Given the description of an element on the screen output the (x, y) to click on. 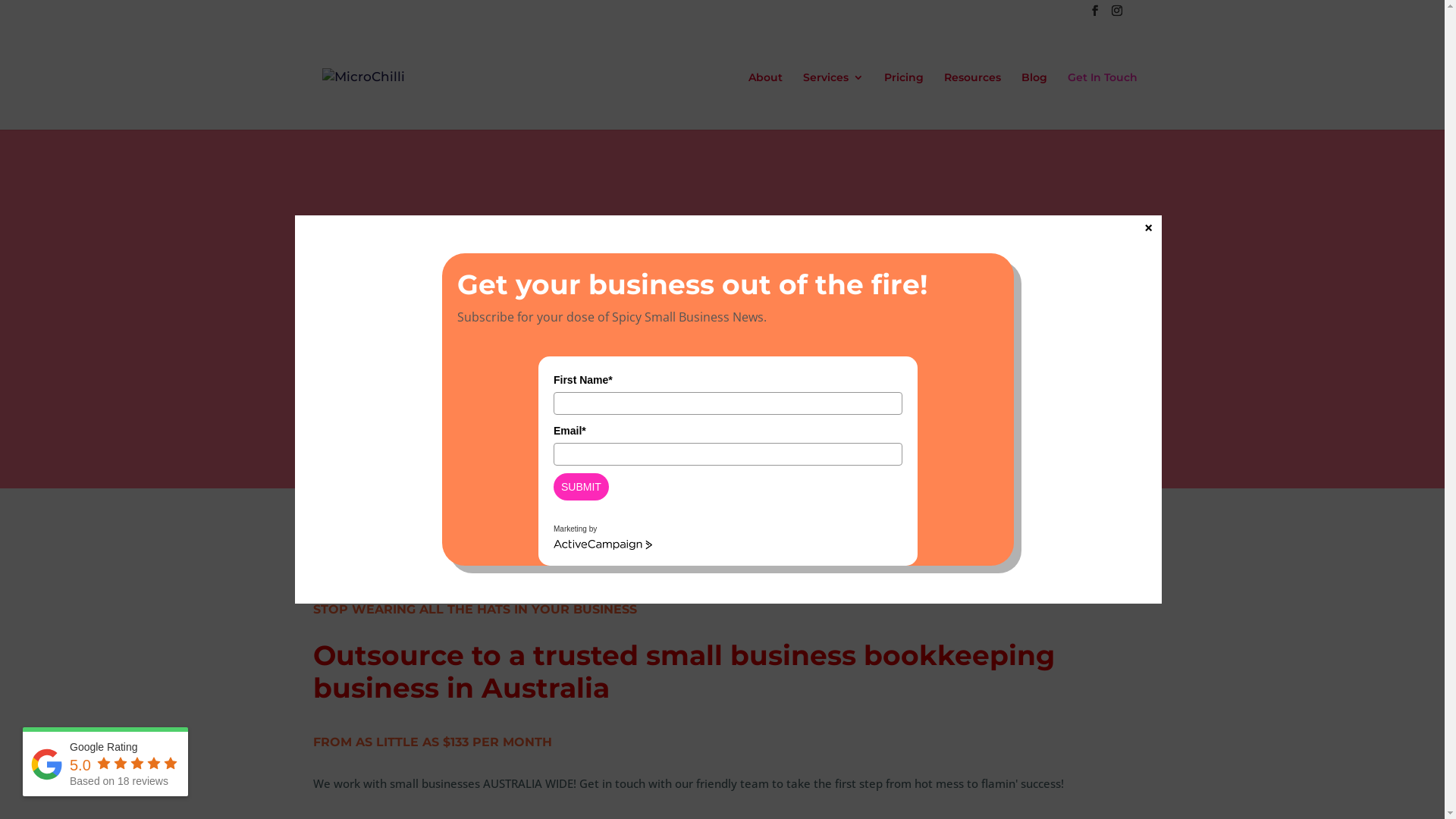
SUBMIT Element type: text (580, 486)
Blog Element type: text (1034, 99)
About Element type: text (765, 99)
ActiveCampaign Element type: text (602, 544)
Pricing Element type: text (903, 99)
Resources Element type: text (972, 99)
Get In Touch Element type: text (1102, 99)
Services Element type: text (833, 99)
